Given the description of an element on the screen output the (x, y) to click on. 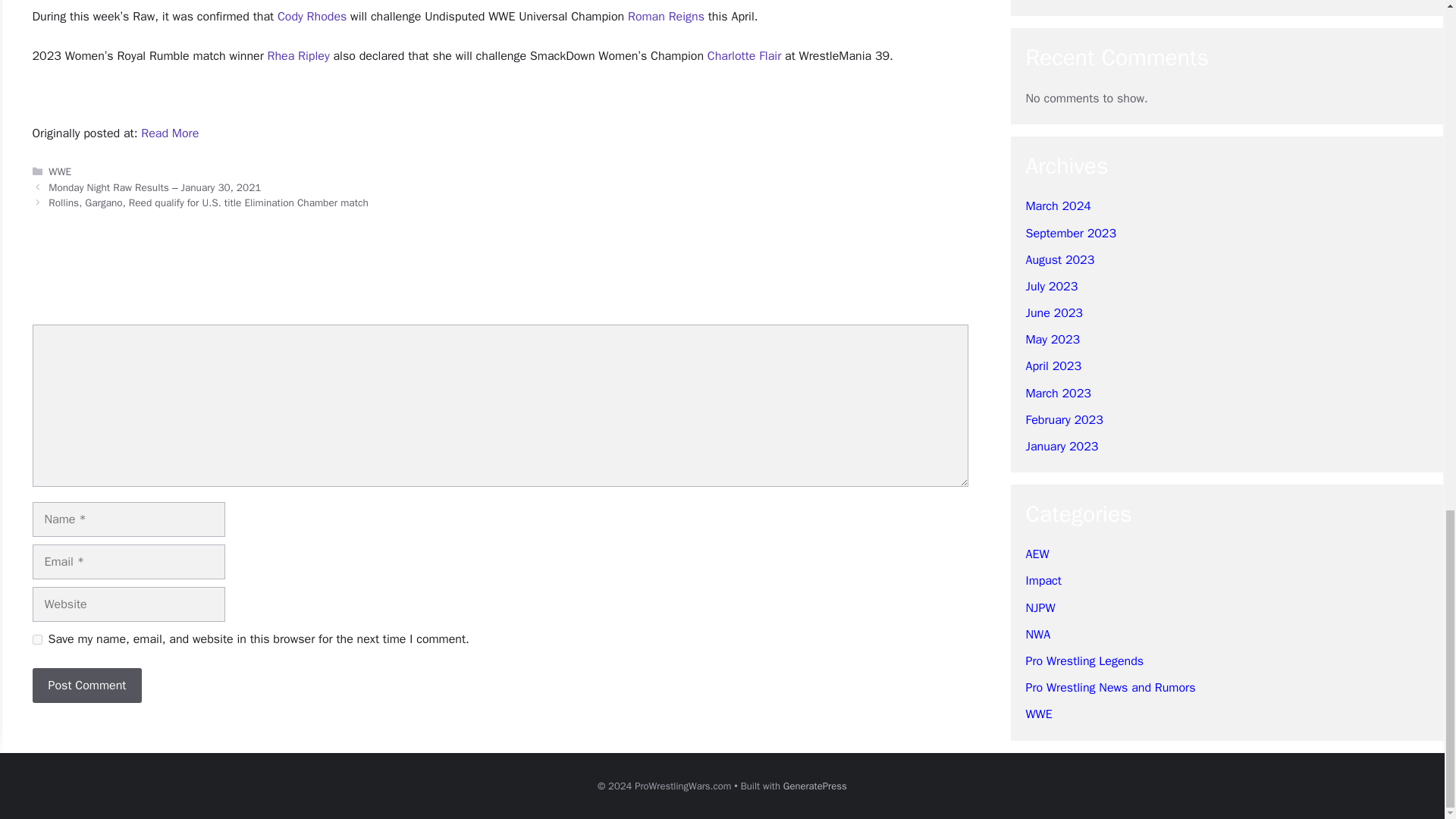
Post Comment (86, 685)
Scroll back to top (1406, 166)
Read More (169, 133)
Charlotte Flair (743, 55)
Roman Reigns (665, 16)
WWE (59, 171)
Cody Rhodes (312, 16)
Rhea Ripley (298, 55)
Rhea Ripley (298, 55)
Charlotte Flair (743, 55)
yes (37, 639)
Roman Reigns (665, 16)
Cody Rhodes (312, 16)
Post Comment (86, 685)
